Given the description of an element on the screen output the (x, y) to click on. 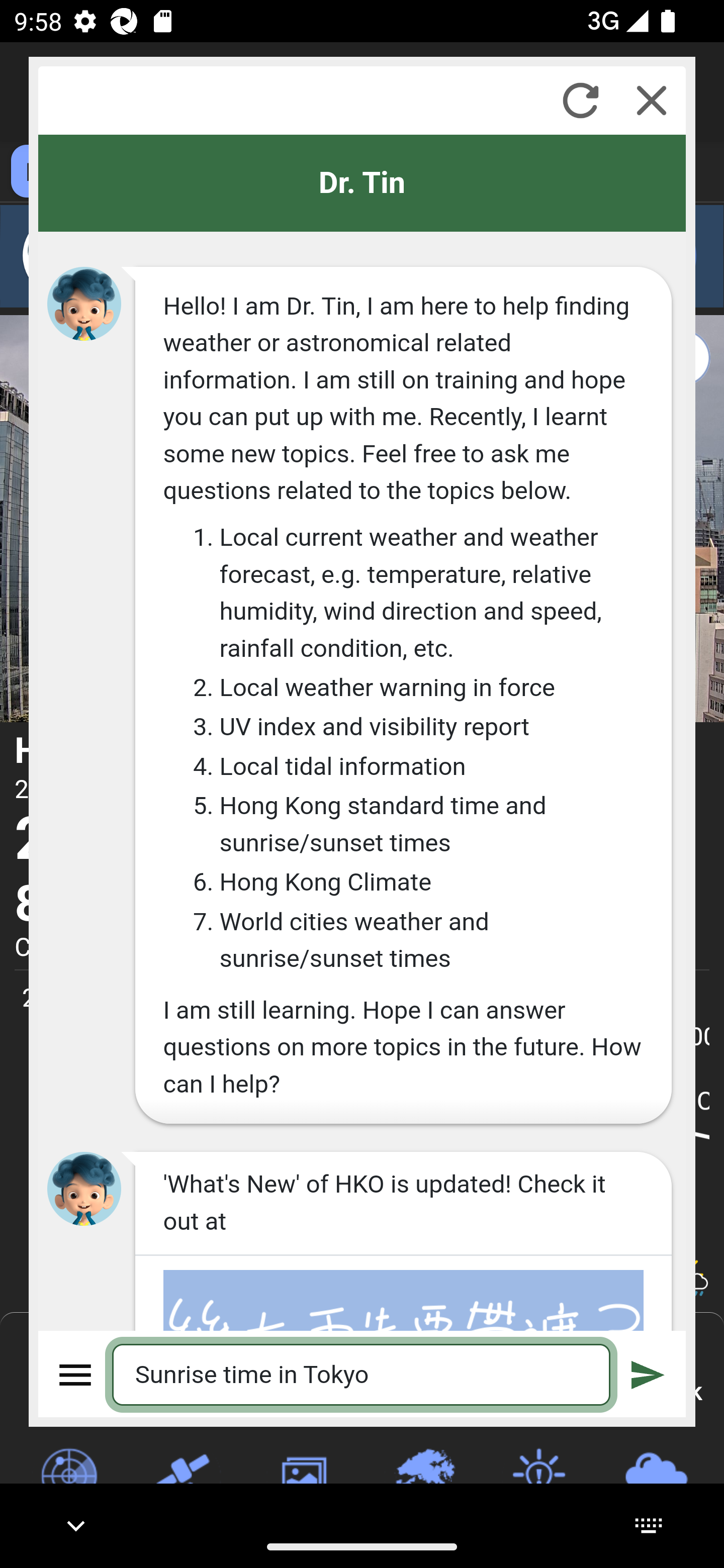
Refresh (580, 100)
Close (651, 100)
Menu (75, 1374)
Submit (648, 1374)
Sunrise time in Tokyo (361, 1374)
